Given the description of an element on the screen output the (x, y) to click on. 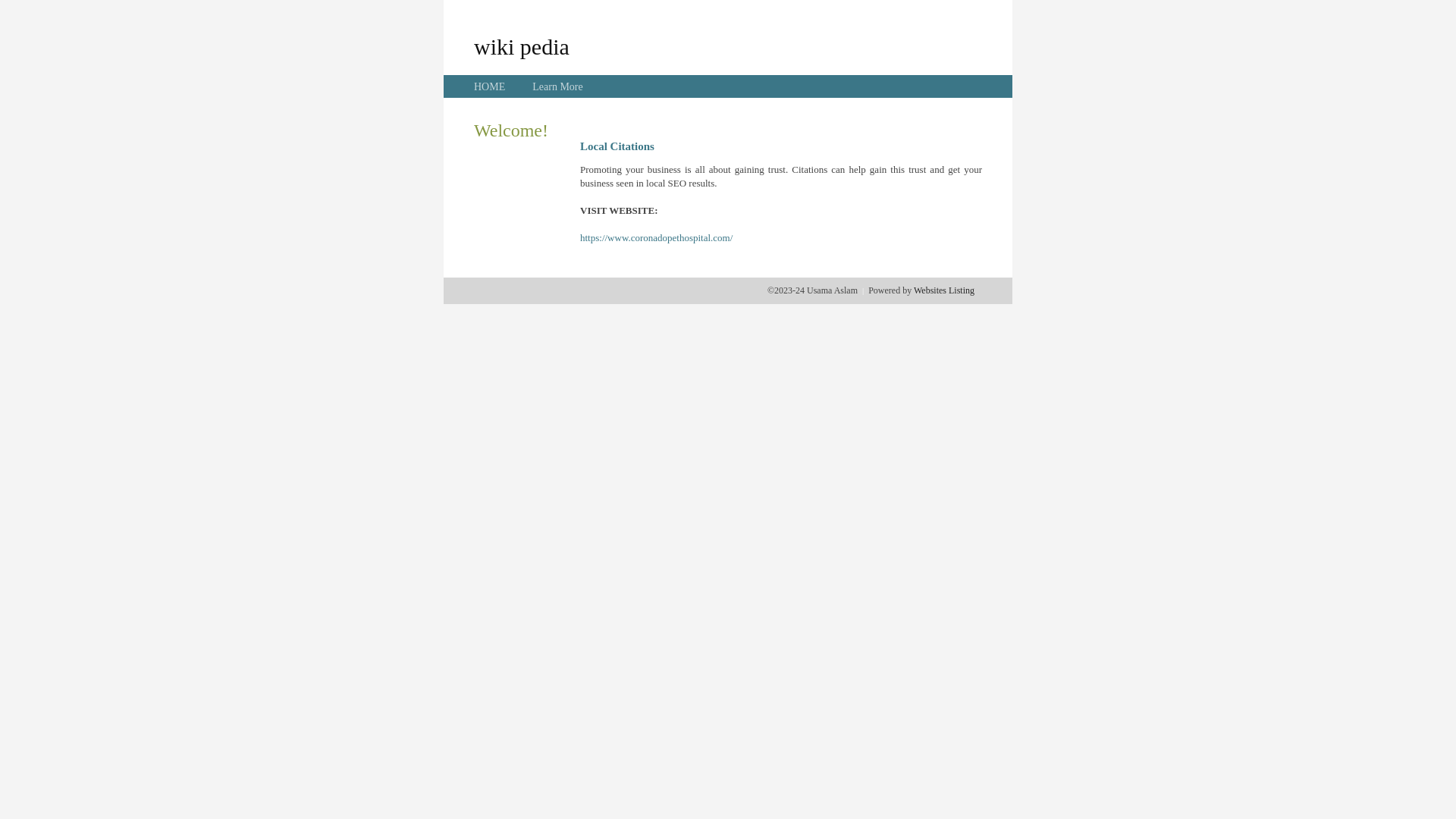
HOME Element type: text (489, 86)
Websites Listing Element type: text (943, 290)
https://www.coronadopethospital.com/ Element type: text (656, 237)
wiki pedia Element type: text (521, 46)
Learn More Element type: text (557, 86)
